Given the description of an element on the screen output the (x, y) to click on. 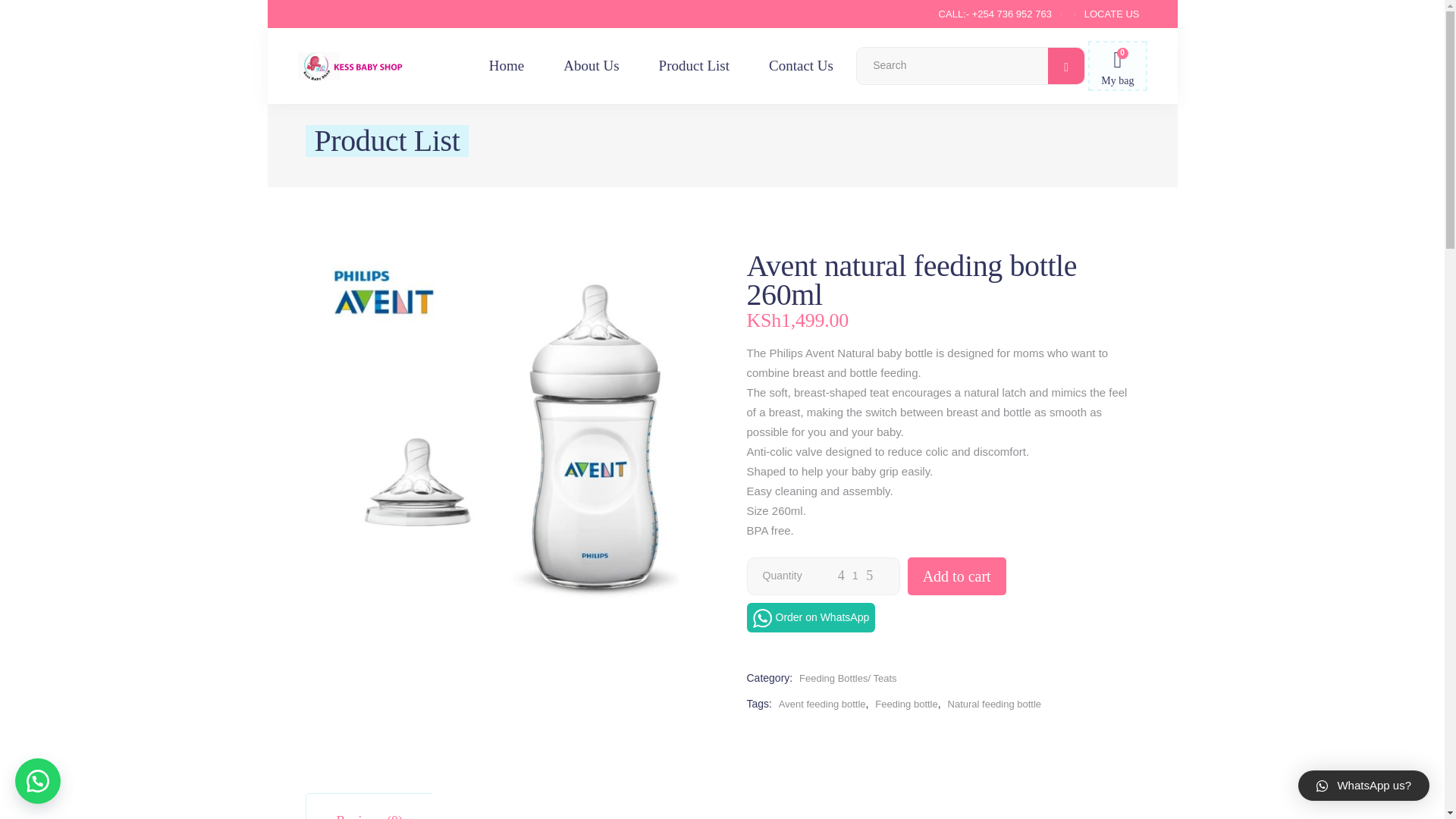
1 (855, 575)
Search for: (952, 65)
About Us (591, 65)
Home (505, 65)
LOCATE US (1112, 12)
Qty (855, 575)
Contact Us (801, 65)
Product List (694, 65)
